Given the description of an element on the screen output the (x, y) to click on. 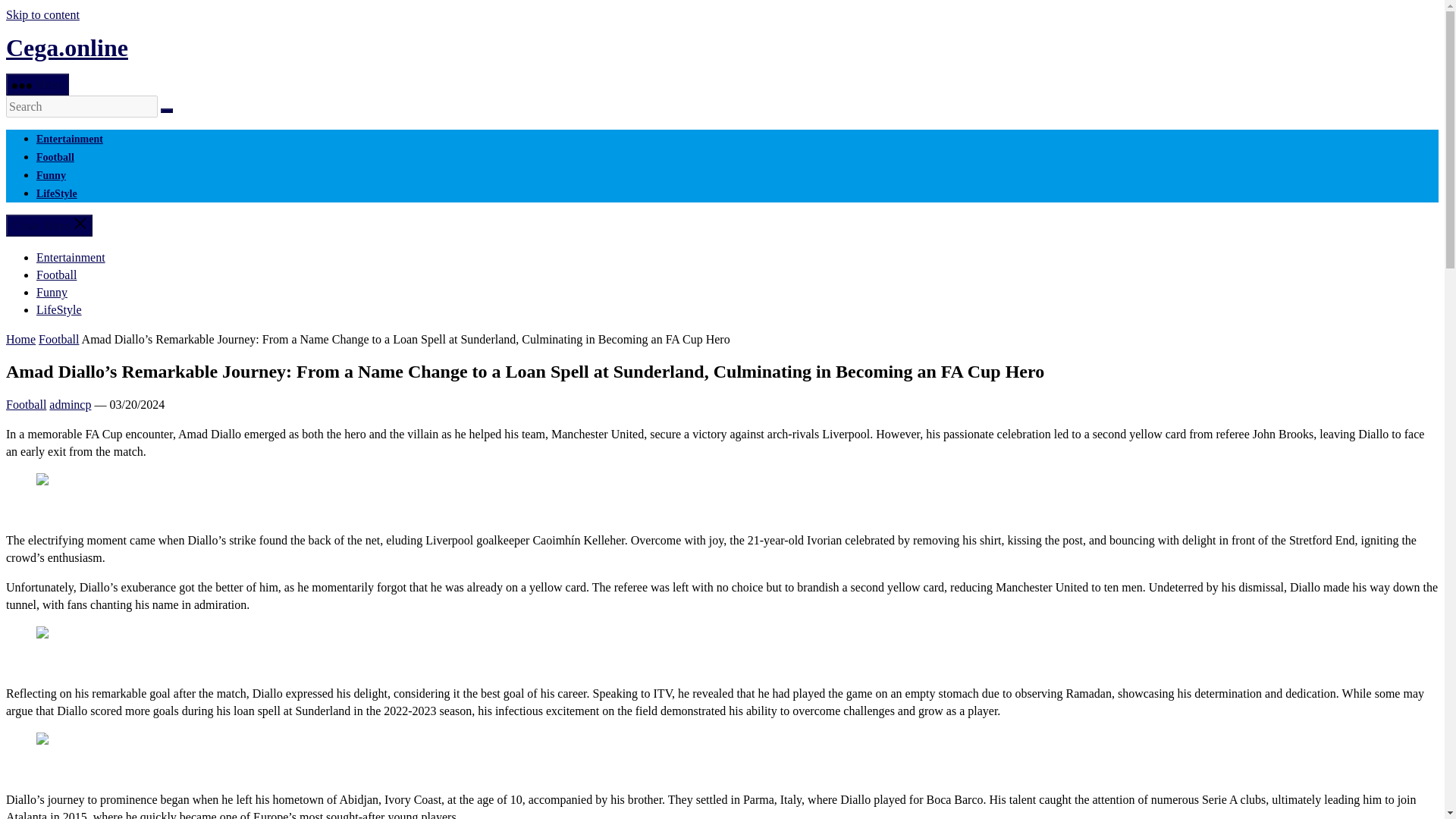
Funny (51, 291)
LifeStyle (56, 193)
Football (56, 274)
Entertainment (69, 138)
Posts by admincp (69, 404)
Close Menu (49, 225)
Entertainment (70, 256)
Cega.online (66, 47)
Football (58, 338)
Football (55, 156)
Funny (50, 174)
Football (25, 404)
Home (19, 338)
Skip to content (42, 14)
LifeStyle (58, 309)
